Given the description of an element on the screen output the (x, y) to click on. 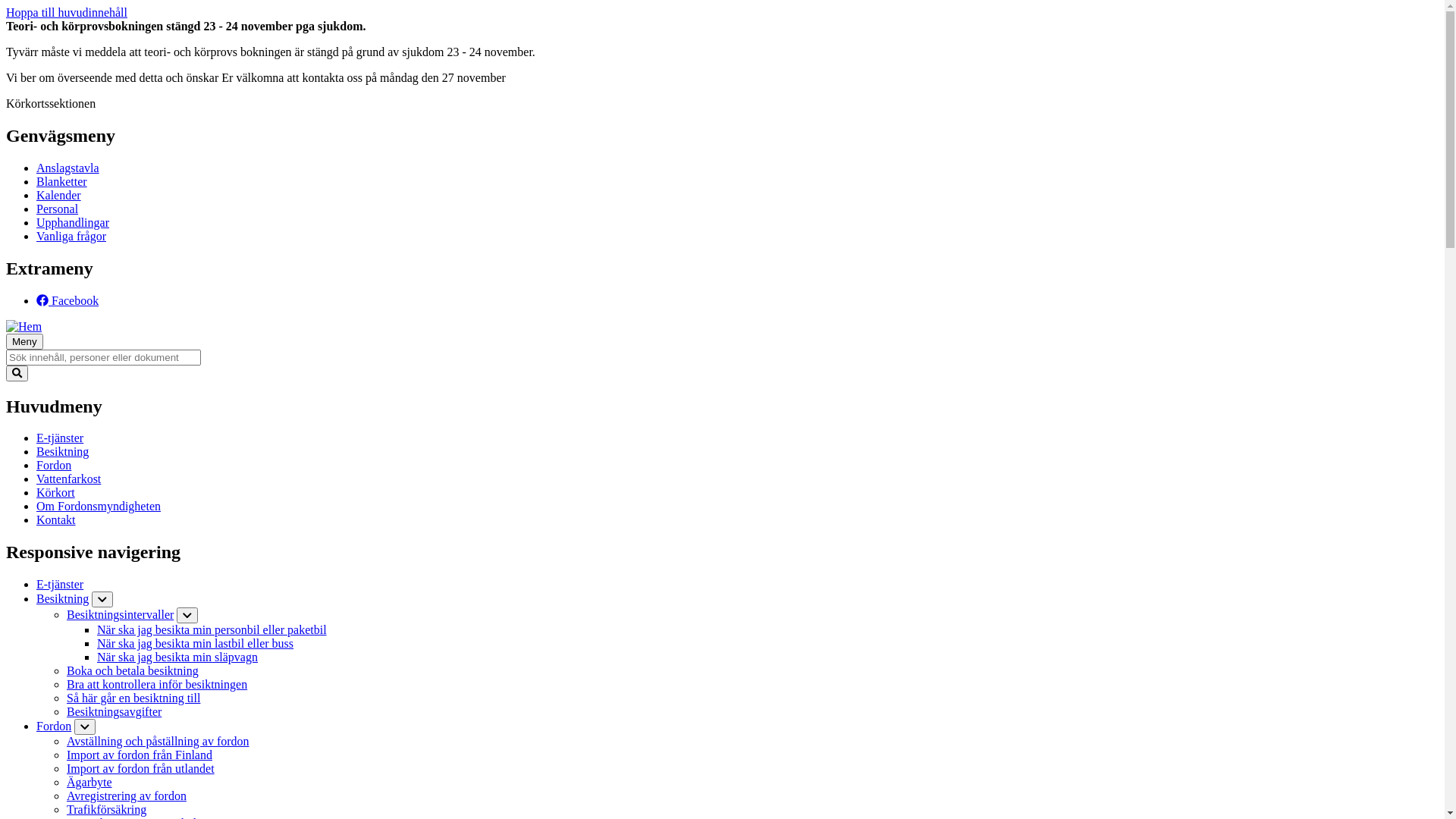
Om Fordonsmyndigheten Element type: text (98, 505)
Facebook Element type: text (67, 300)
Besiktning Element type: text (62, 598)
Besiktningsintervaller Element type: text (119, 614)
Kontakt Element type: text (55, 519)
Avregistrering av fordon Element type: text (126, 795)
Fordon Element type: text (53, 725)
Blanketter Element type: text (61, 181)
Boka och betala besiktning Element type: text (132, 670)
Fordon Element type: text (53, 464)
Upphandlingar Element type: text (72, 222)
Kalender Element type: text (58, 194)
Vattenfarkost Element type: text (68, 478)
Hem Element type: hover (23, 326)
Personal Element type: text (57, 208)
Besiktningsavgifter Element type: text (113, 711)
Meny Element type: text (24, 341)
Besiktning Element type: text (62, 451)
Anslagstavla Element type: text (67, 167)
